Given the description of an element on the screen output the (x, y) to click on. 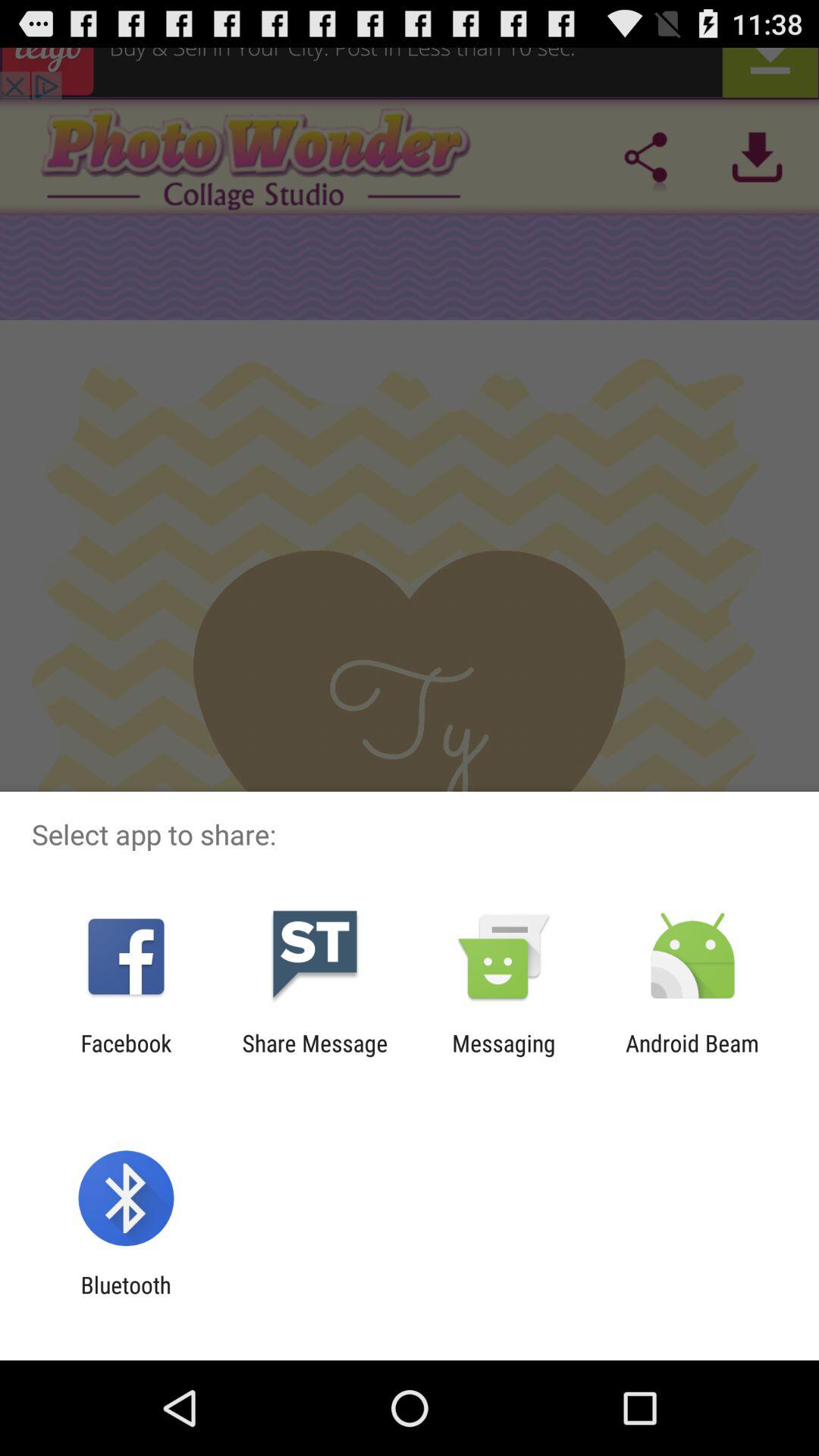
scroll to messaging app (503, 1056)
